Given the description of an element on the screen output the (x, y) to click on. 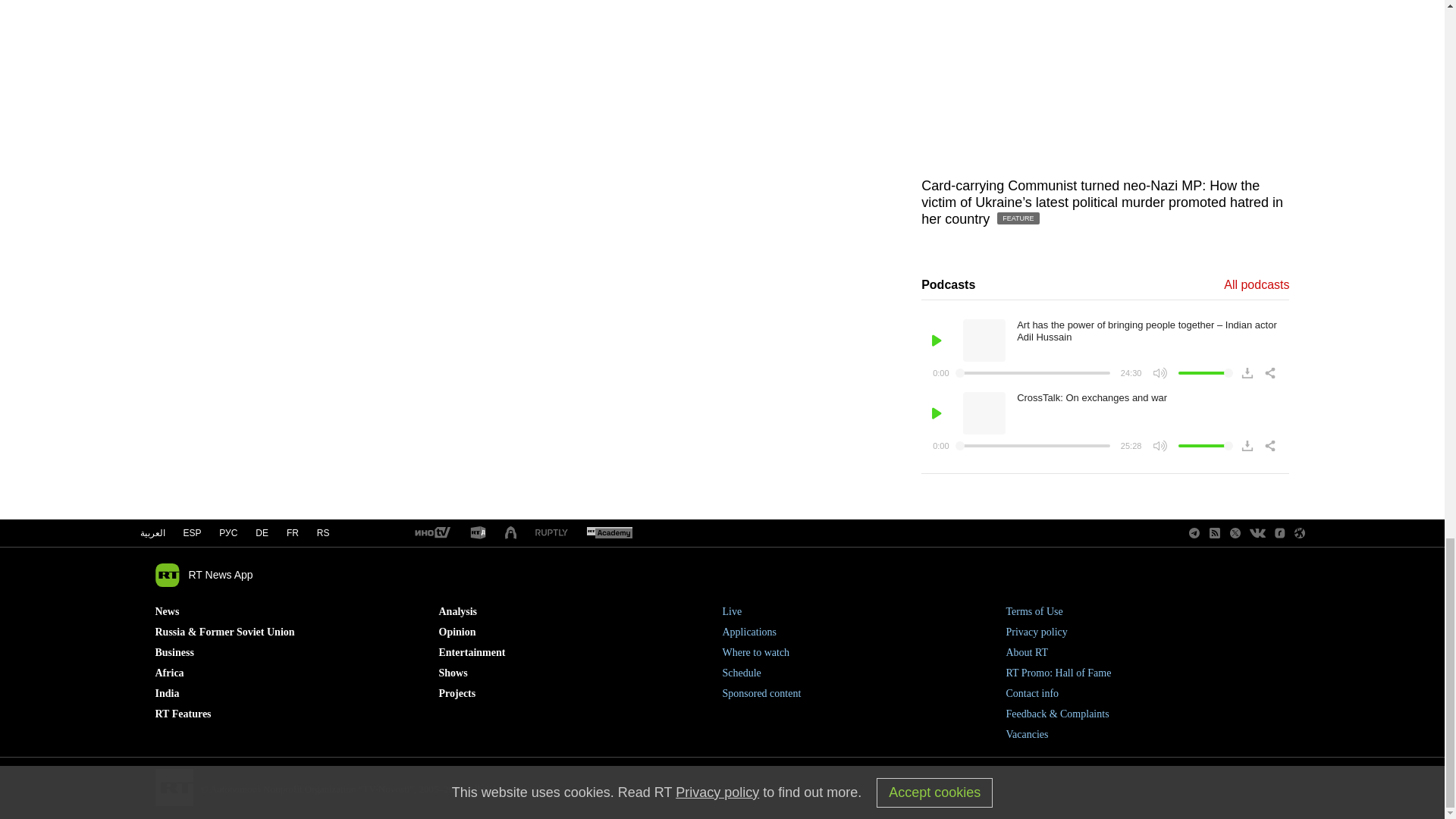
RT  (608, 533)
RT  (551, 533)
RT  (478, 533)
RT  (431, 533)
